Given the description of an element on the screen output the (x, y) to click on. 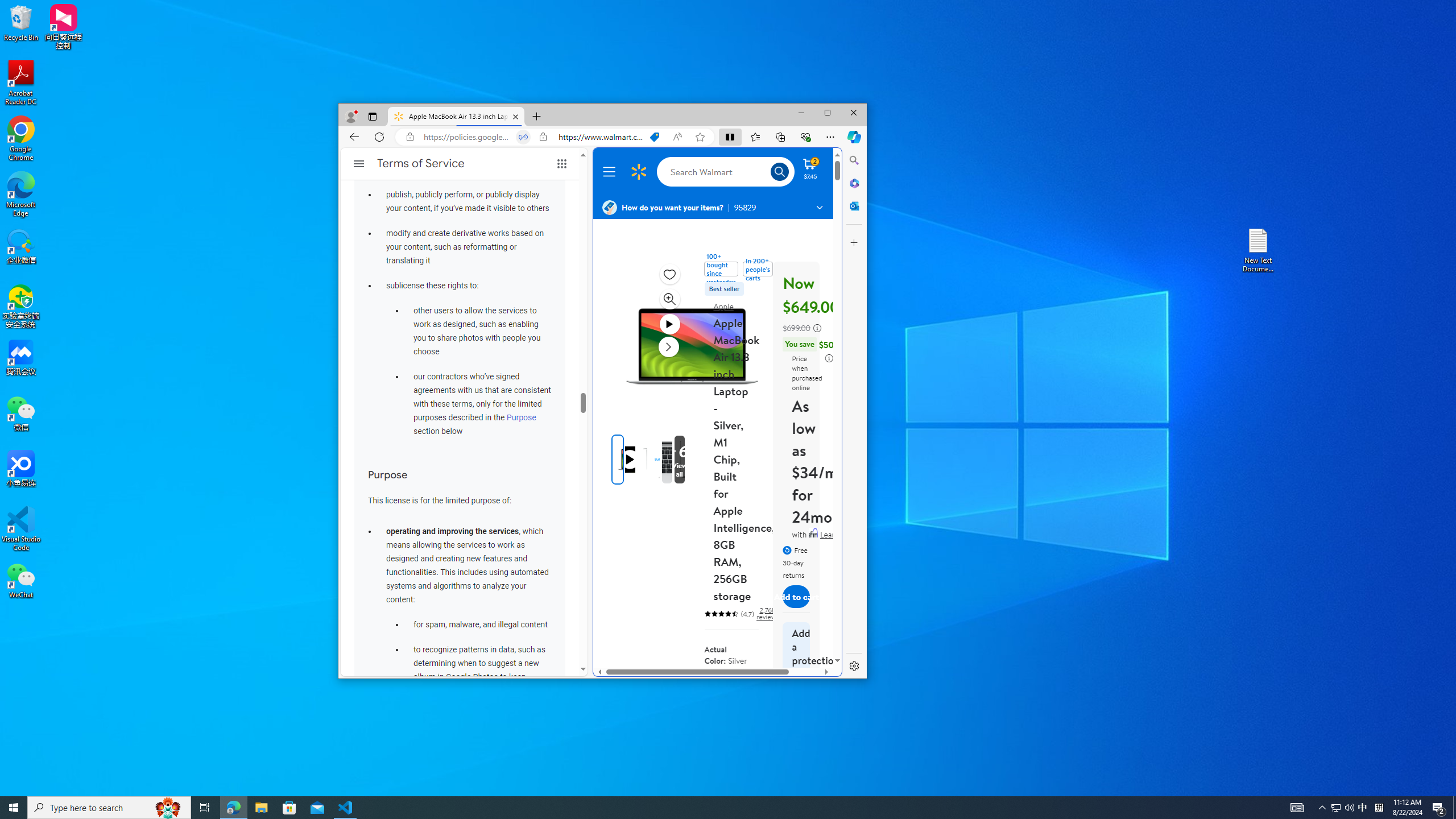
Gold, $649.00 (715, 692)
Walmart Homepage (637, 171)
Maximize (826, 112)
This site has coupons! Shopping in Microsoft Edge, 7 (654, 136)
Action Center, 2 new notifications (1439, 807)
Notification Chevron (1322, 807)
Class: absolute pointer (629, 459)
